Given the description of an element on the screen output the (x, y) to click on. 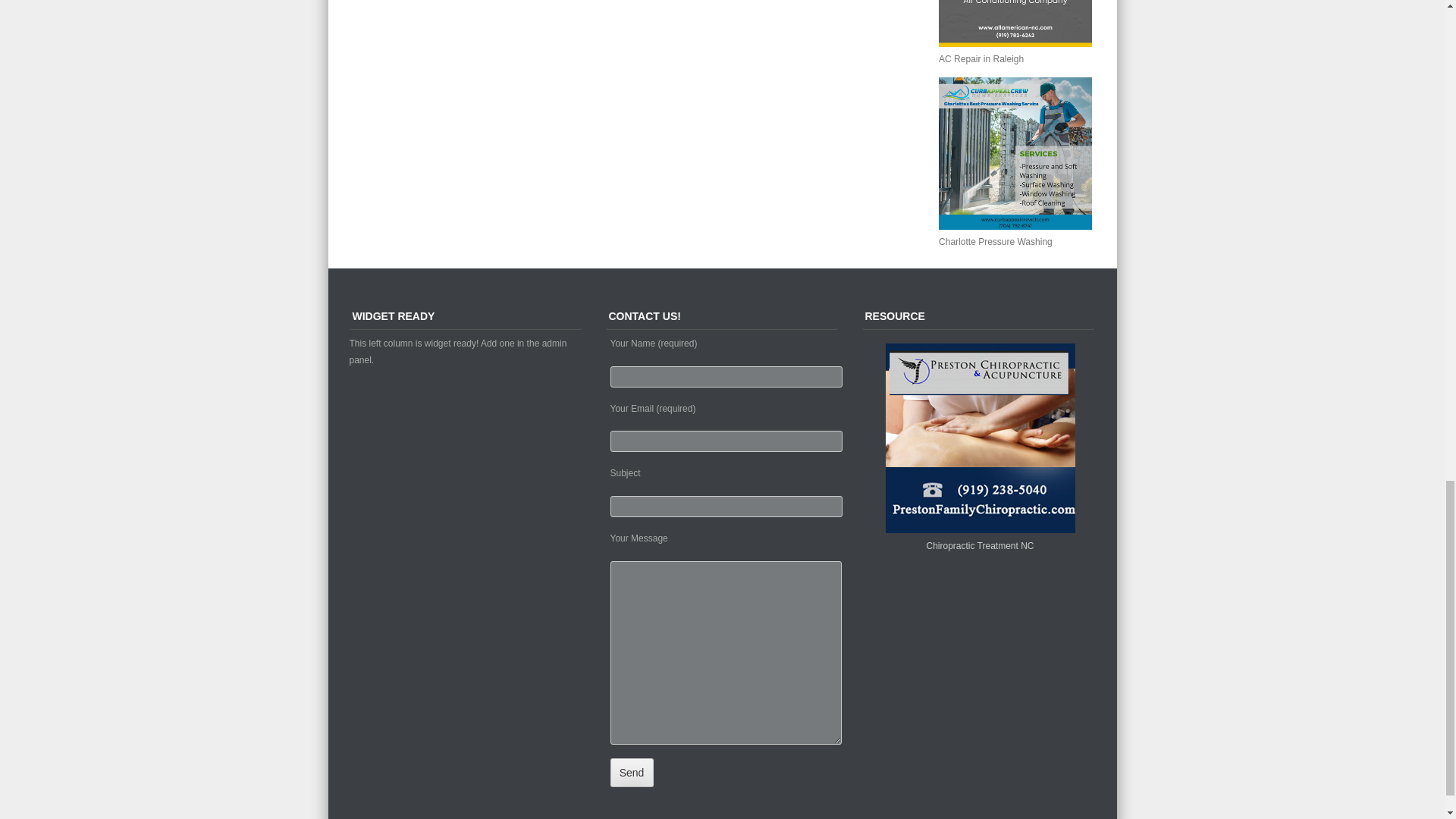
Send (631, 772)
